Given the description of an element on the screen output the (x, y) to click on. 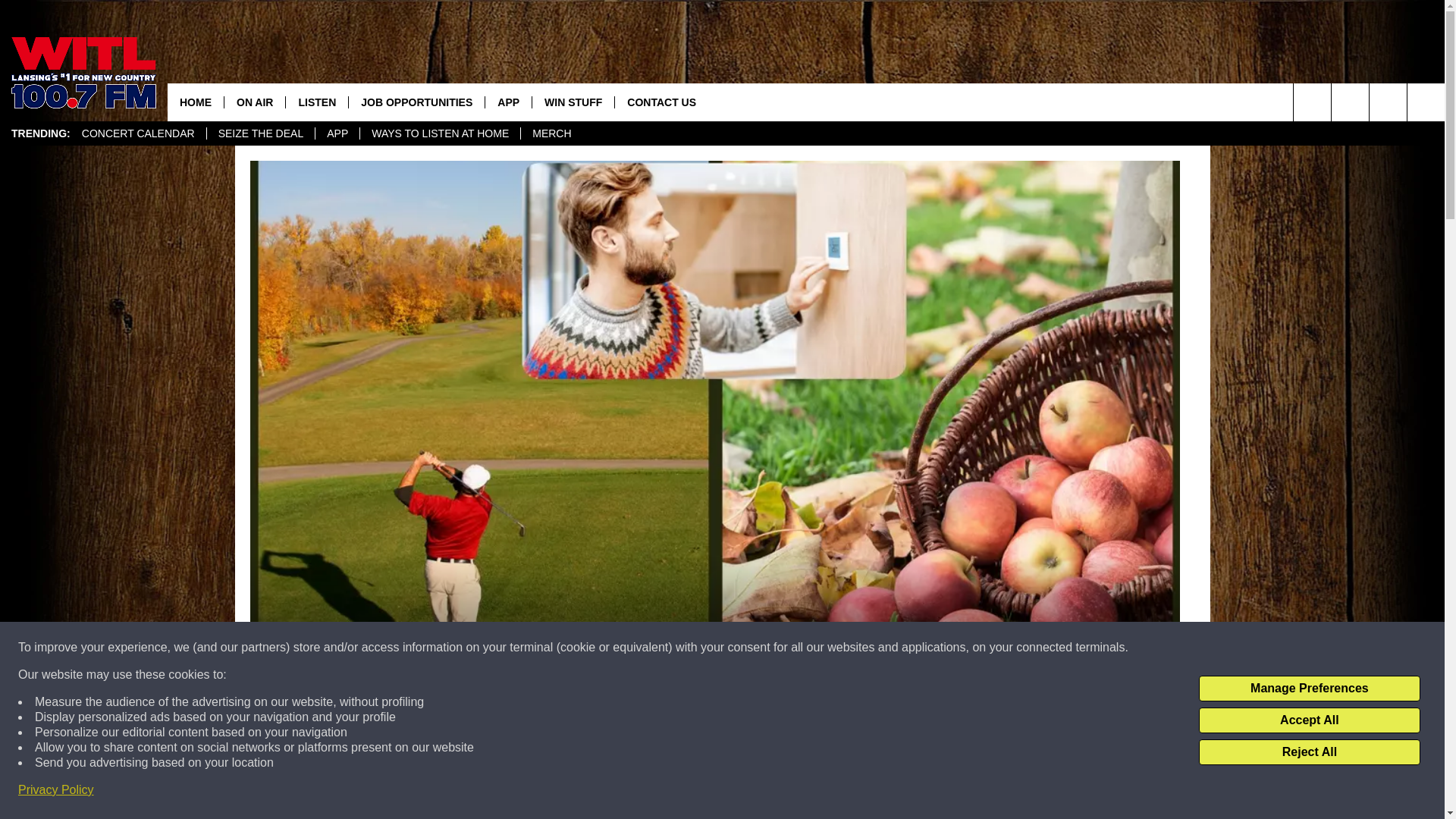
Share on Twitter (912, 791)
APP (507, 102)
Manage Preferences (1309, 688)
HOME (195, 102)
JOB OPPORTUNITIES (415, 102)
LISTEN (316, 102)
Reject All (1309, 751)
Share on Facebook (517, 791)
WIN STUFF (572, 102)
CONTACT US (660, 102)
Privacy Policy (55, 789)
CONCERT CALENDAR (137, 133)
MERCH (550, 133)
SEIZE THE DEAL (260, 133)
ON AIR (254, 102)
